Given the description of an element on the screen output the (x, y) to click on. 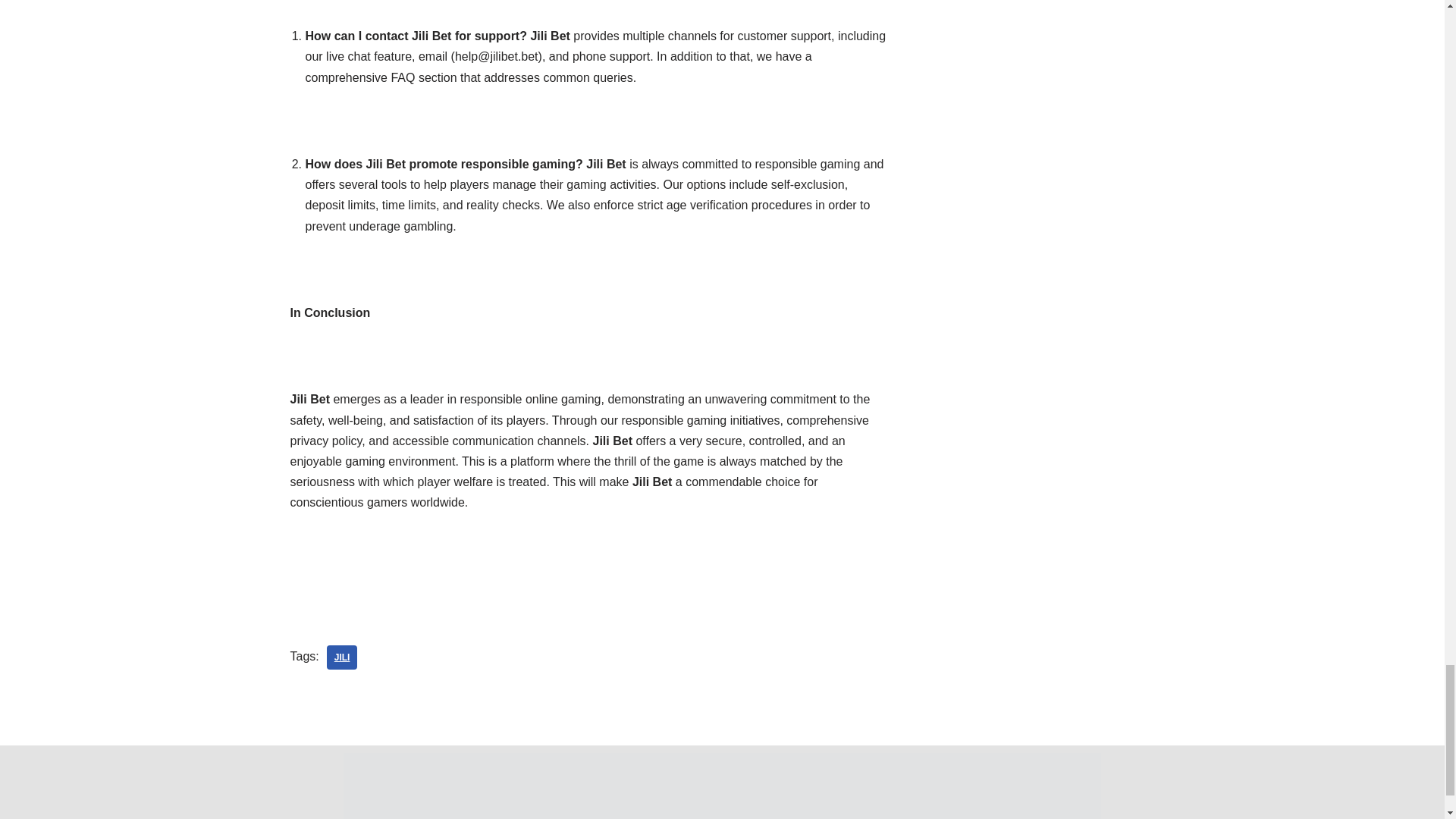
Jili (342, 657)
JILI (342, 657)
